Given the description of an element on the screen output the (x, y) to click on. 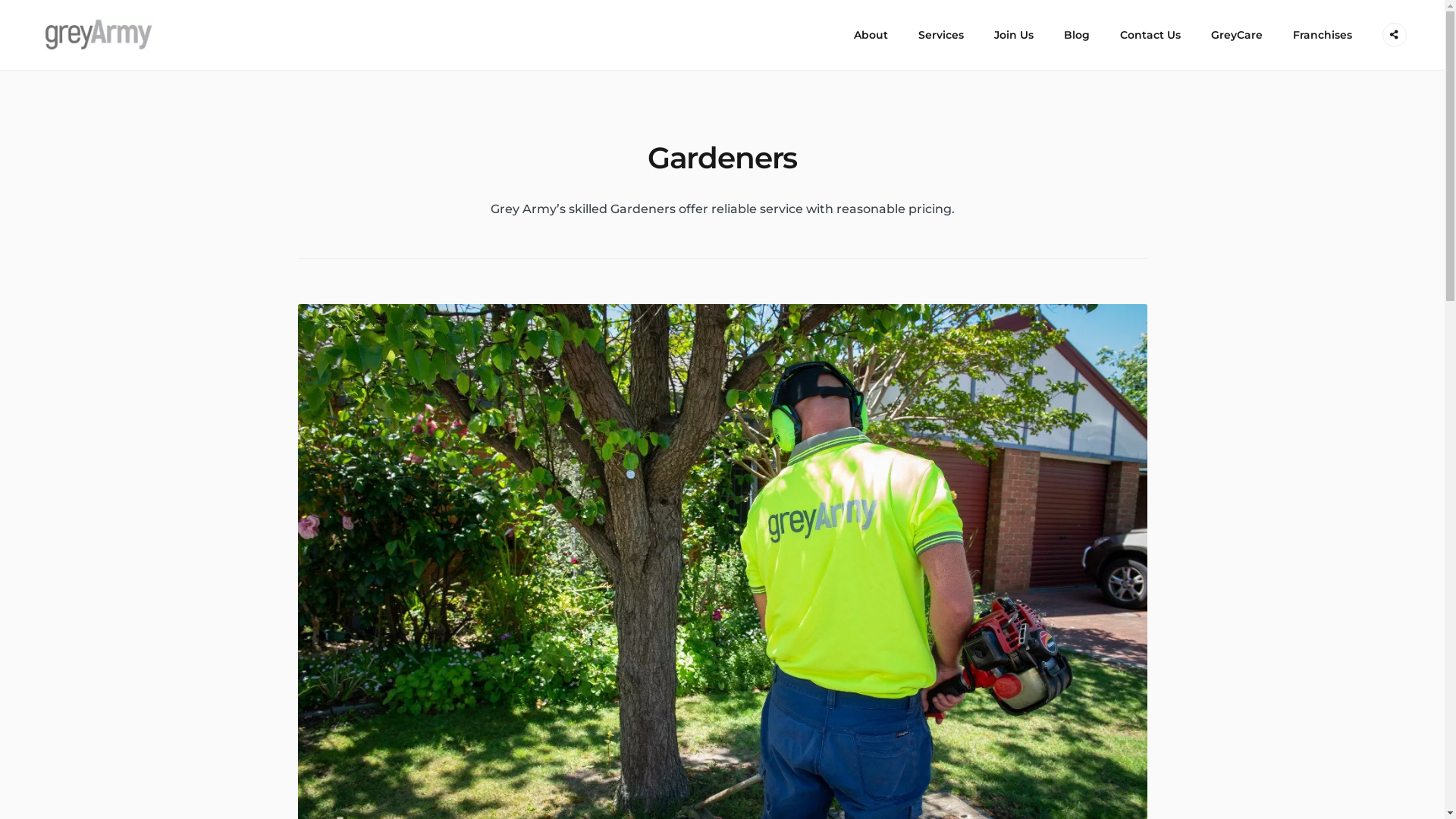
Blog Element type: text (1076, 34)
GreyCare Element type: text (1236, 34)
Join Us Element type: text (1013, 34)
Contact Us Element type: text (1149, 34)
Franchises Element type: text (1322, 34)
Grey Army Element type: text (73, 34)
About Element type: text (870, 34)
Services Element type: text (941, 34)
